Given the description of an element on the screen output the (x, y) to click on. 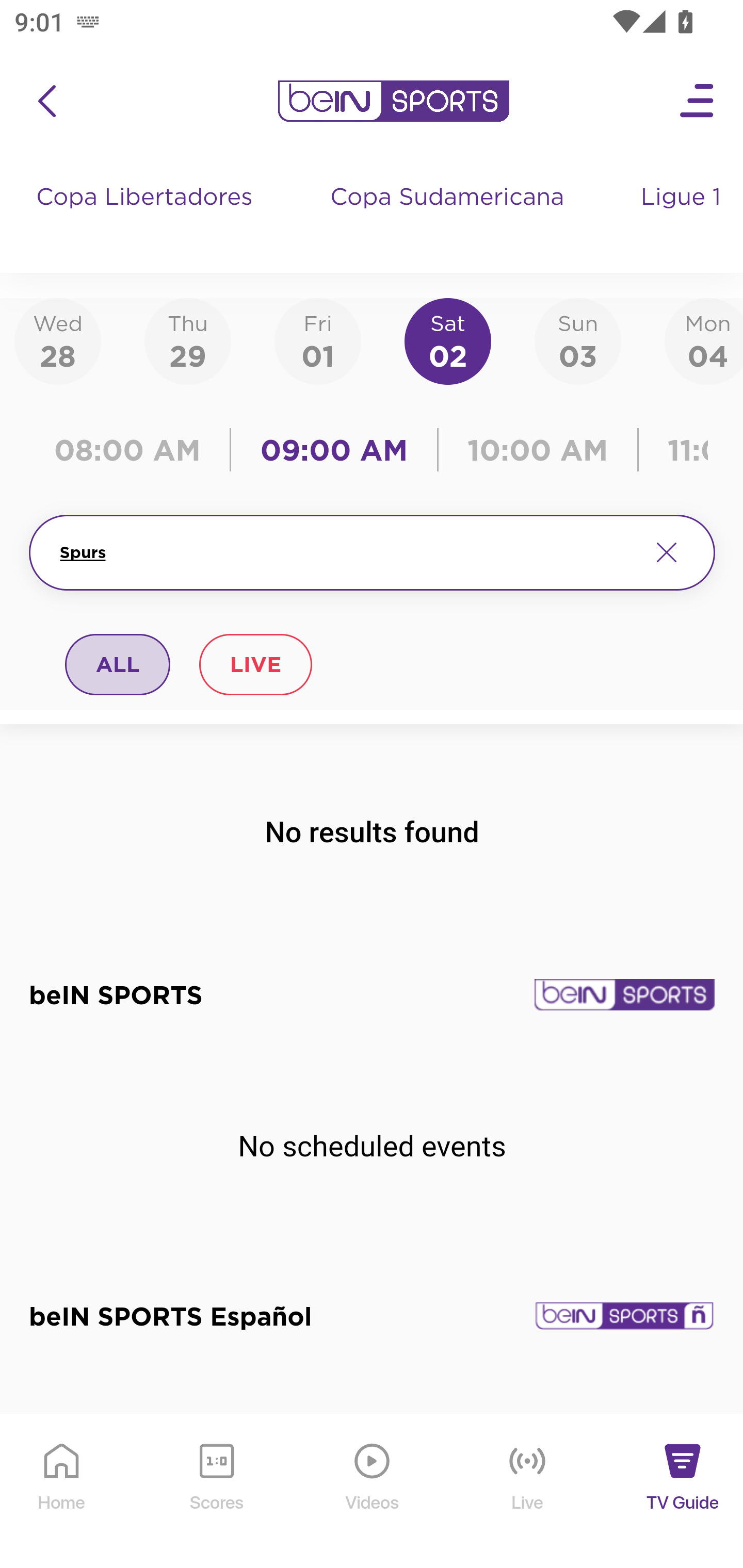
en-us?platform=mobile_android bein logo (392, 101)
icon back (46, 101)
Open Menu Icon (697, 101)
Copa Libertadores (146, 216)
Copa Sudamericana (448, 216)
Ligue 1 (682, 216)
Wed28 (58, 340)
Thu29 (187, 340)
Fri01 (318, 340)
Sat02 (447, 340)
Sun03 (578, 340)
Mon04 (703, 340)
08:00 AM (134, 449)
09:00 AM (334, 449)
10:00 AM (537, 449)
Spurs (346, 552)
ALL (118, 663)
LIVE (255, 663)
Home Home Icon Home (61, 1491)
Scores Scores Icon Scores (216, 1491)
Videos Videos Icon Videos (372, 1491)
TV Guide TV Guide Icon TV Guide (682, 1491)
